Given the description of an element on the screen output the (x, y) to click on. 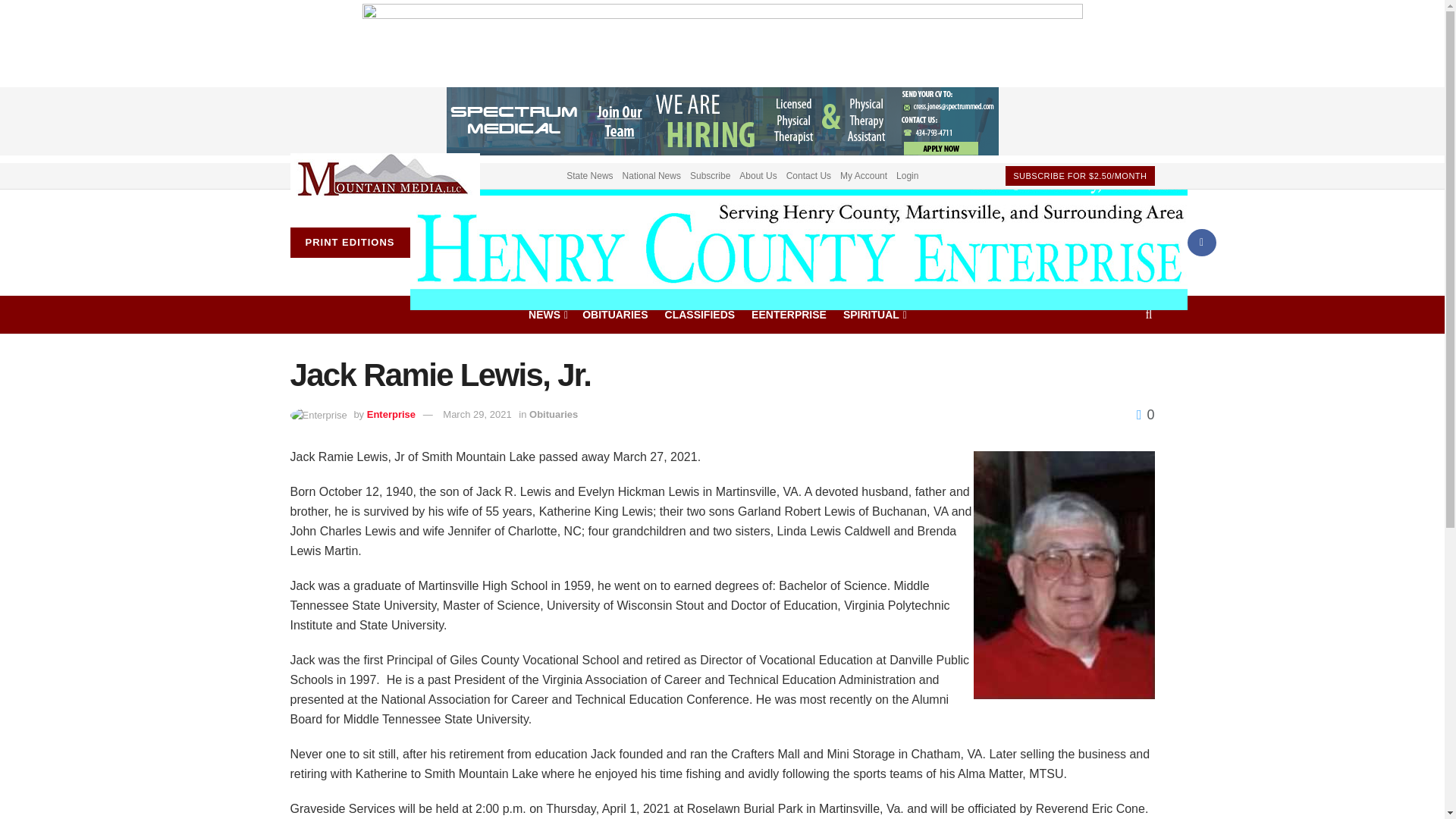
SPIRITUAL (873, 313)
PRINT EDITIONS (349, 242)
About Us (757, 175)
Subscribe (710, 175)
State News (589, 175)
My Account (863, 175)
Enterprise (390, 414)
NEWS (547, 313)
CLASSIFIEDS (700, 313)
National News (652, 175)
